Given the description of an element on the screen output the (x, y) to click on. 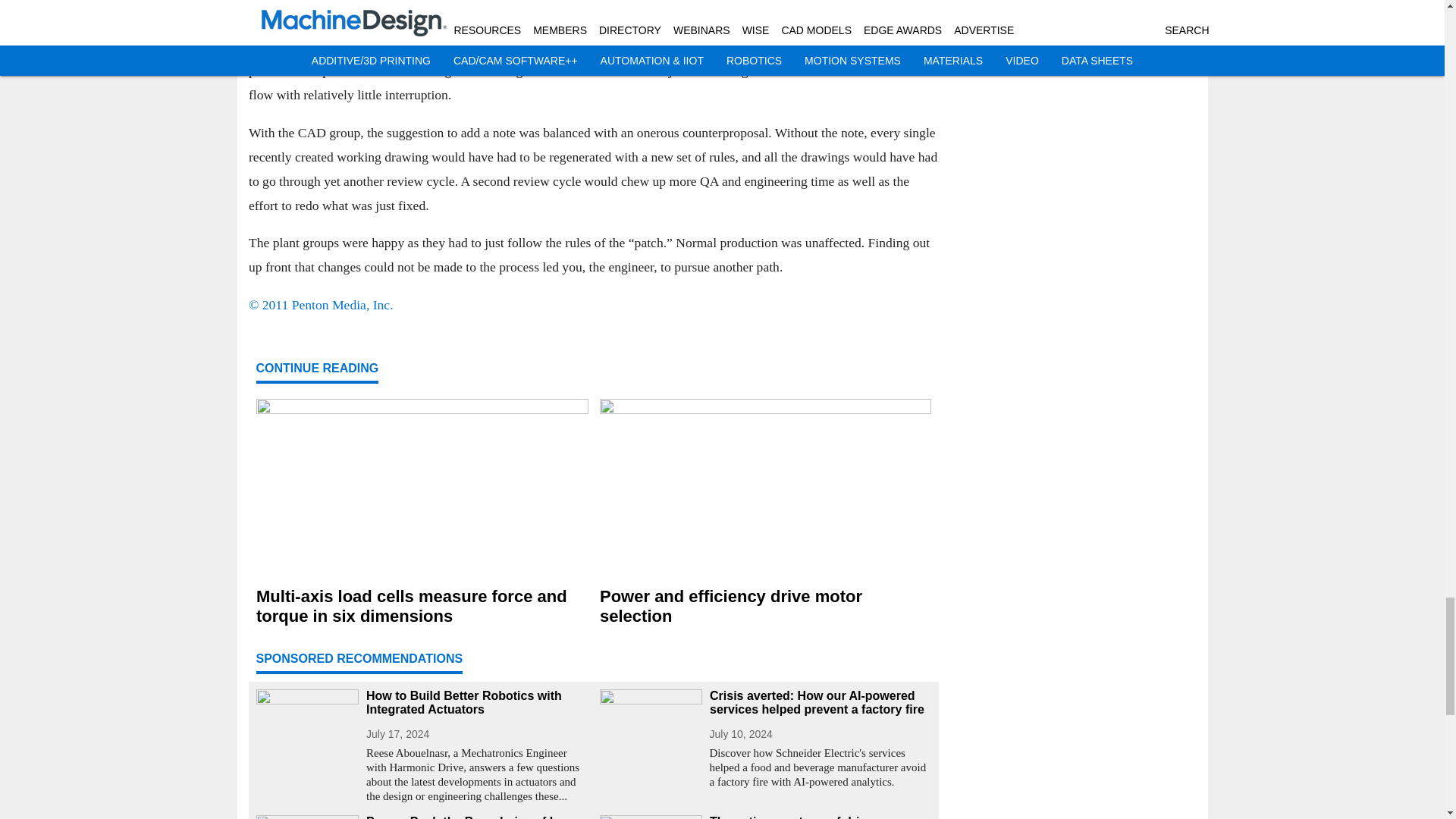
The entire spectrum of drive technology (820, 816)
Power and efficiency drive motor selection (764, 606)
How to Build Better Robotics with Integrated Actuators (476, 702)
Pumps Push the Boundaries of Low Temperature Technology (476, 816)
